Given the description of an element on the screen output the (x, y) to click on. 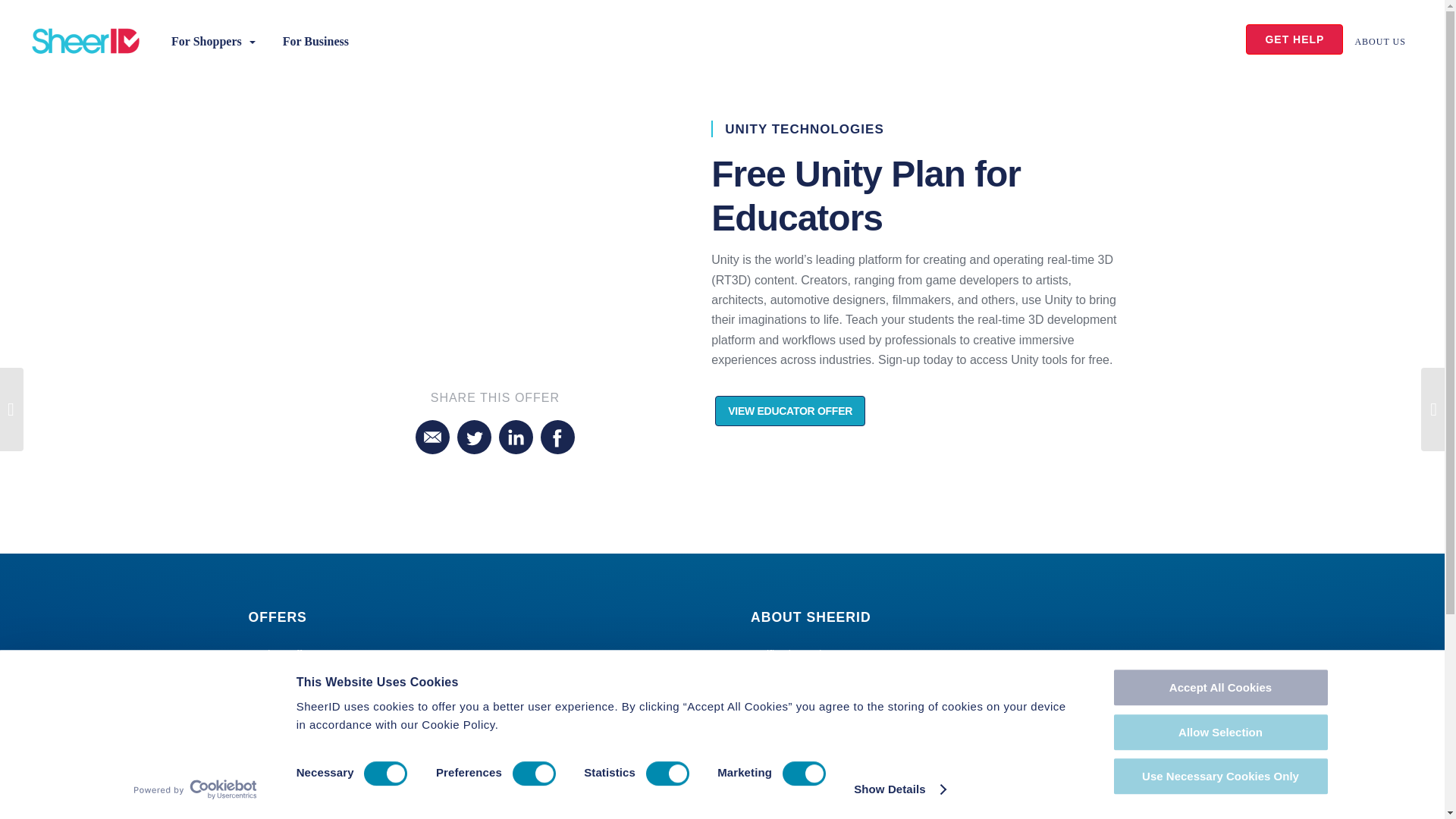
Show Details (898, 789)
